Given the description of an element on the screen output the (x, y) to click on. 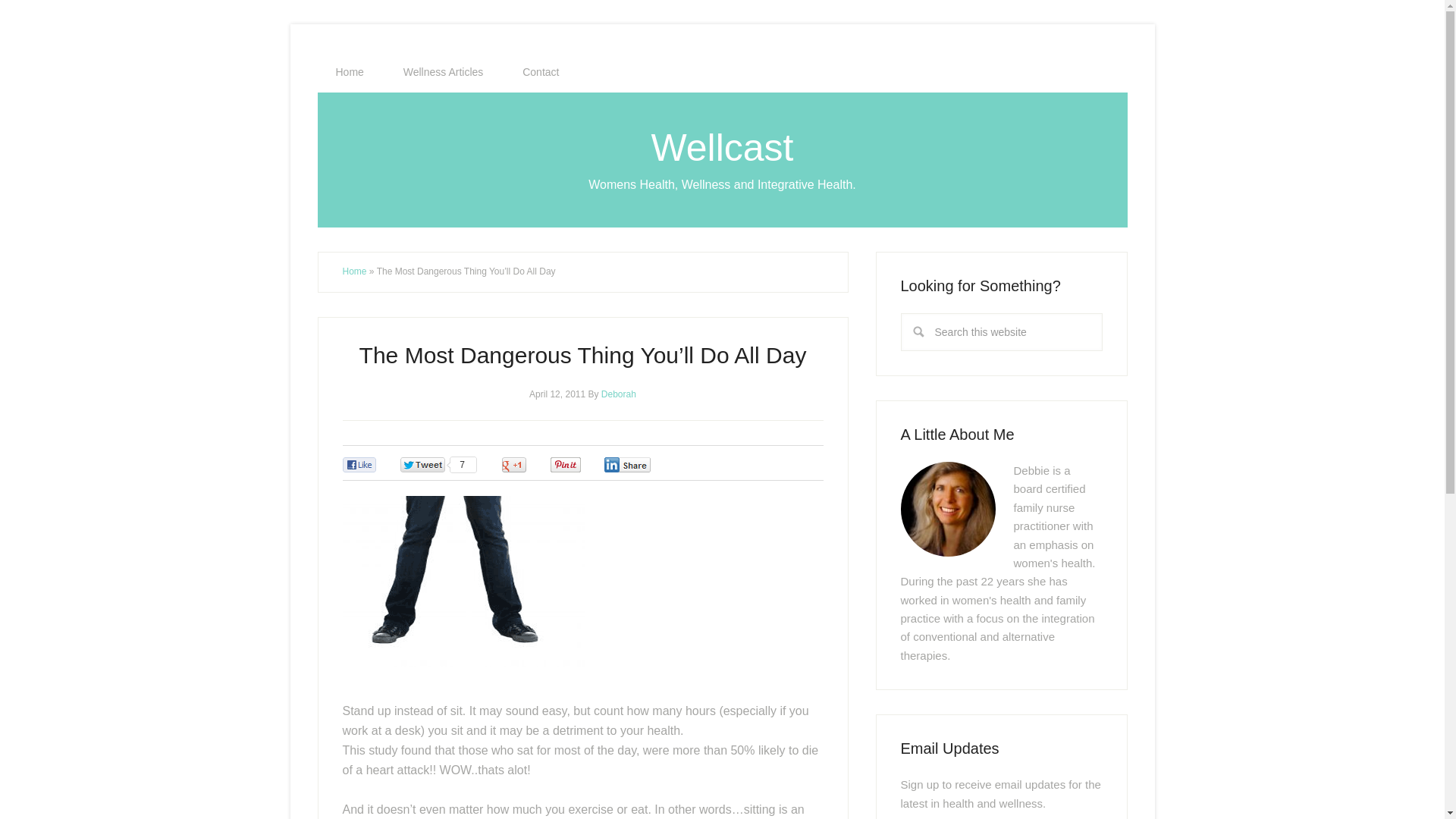
Deborah (618, 393)
7 (438, 465)
Wellcast (721, 147)
Contact (539, 71)
Home (349, 71)
Wellness Articles (443, 71)
Home (354, 271)
7 retweets so far (438, 465)
